Given the description of an element on the screen output the (x, y) to click on. 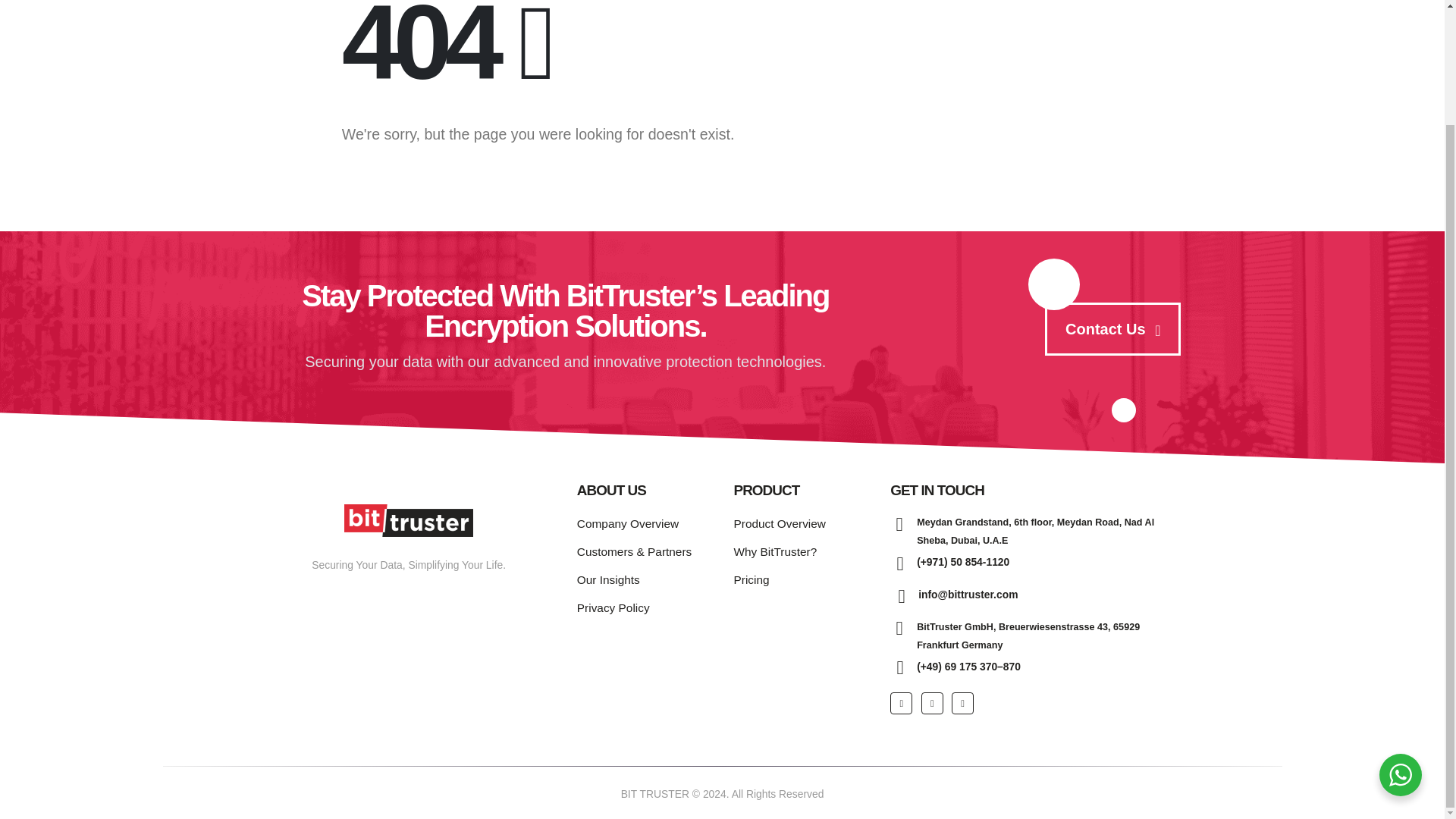
Twitter (932, 703)
Our Insights (608, 579)
Product Overview (779, 522)
Facebook (900, 703)
Contact Us (1141, 328)
Pricing (750, 579)
Privacy Policy (612, 607)
Logo (408, 520)
LinkedIn (963, 703)
Get Started (1112, 328)
